Given the description of an element on the screen output the (x, y) to click on. 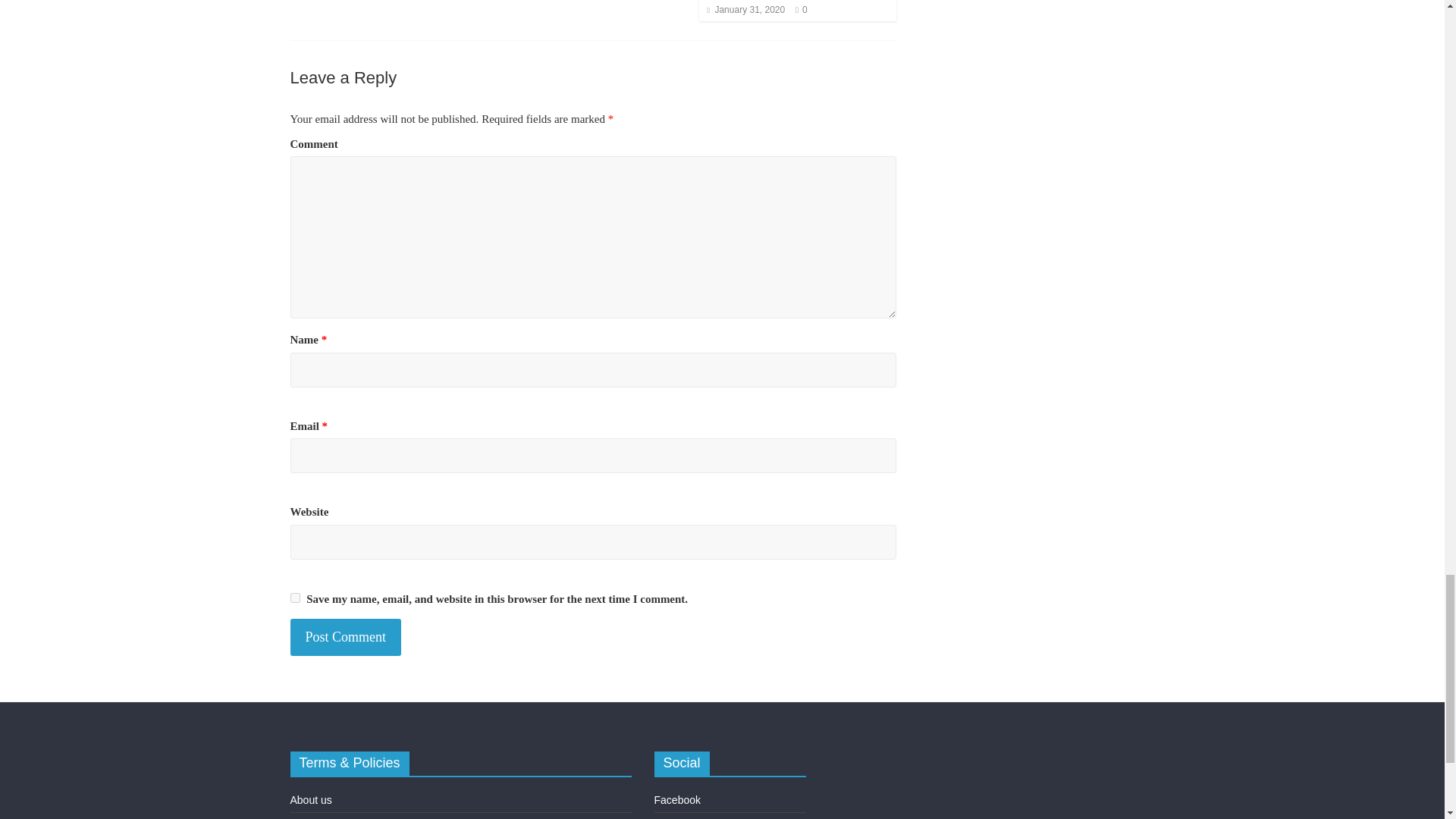
10:33 pm (745, 9)
yes (294, 597)
Post Comment (345, 637)
